Given the description of an element on the screen output the (x, y) to click on. 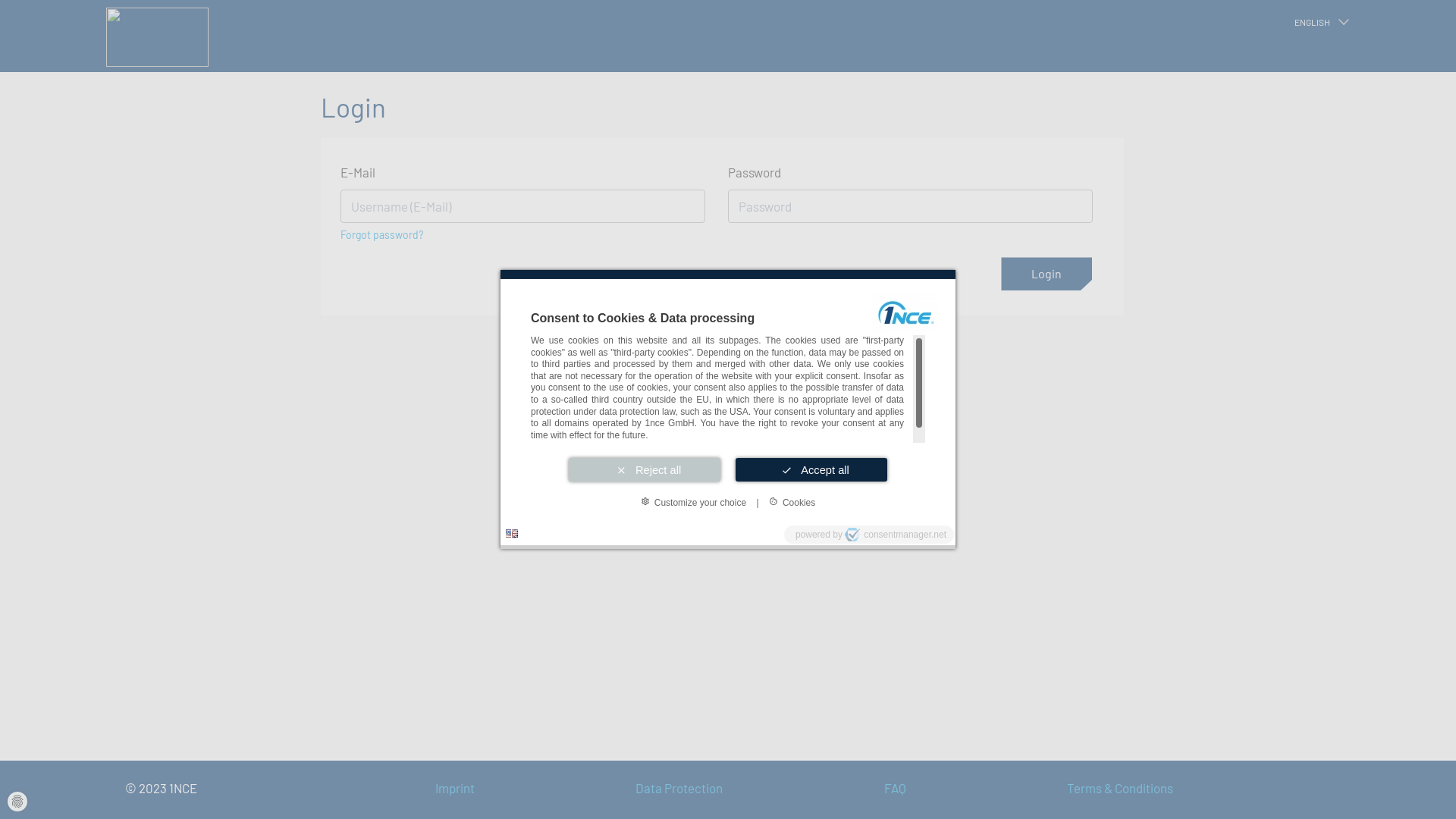
Accept all Element type: text (811, 469)
Customize your choice Element type: text (693, 501)
FAQ Element type: text (972, 787)
Imprint Element type: text (532, 787)
ENGLISH Element type: text (1320, 21)
Data Protection Element type: text (756, 787)
Terms & Conditions Element type: text (1196, 787)
Language: en Element type: hover (511, 533)
consentmanager.net Element type: text (895, 534)
Privacy settings Element type: hover (17, 801)
Forgot password? Element type: text (379, 228)
Login Element type: text (1046, 273)
Language: en Element type: hover (511, 533)
Cookies Element type: text (791, 501)
Reject all Element type: text (644, 469)
